Given the description of an element on the screen output the (x, y) to click on. 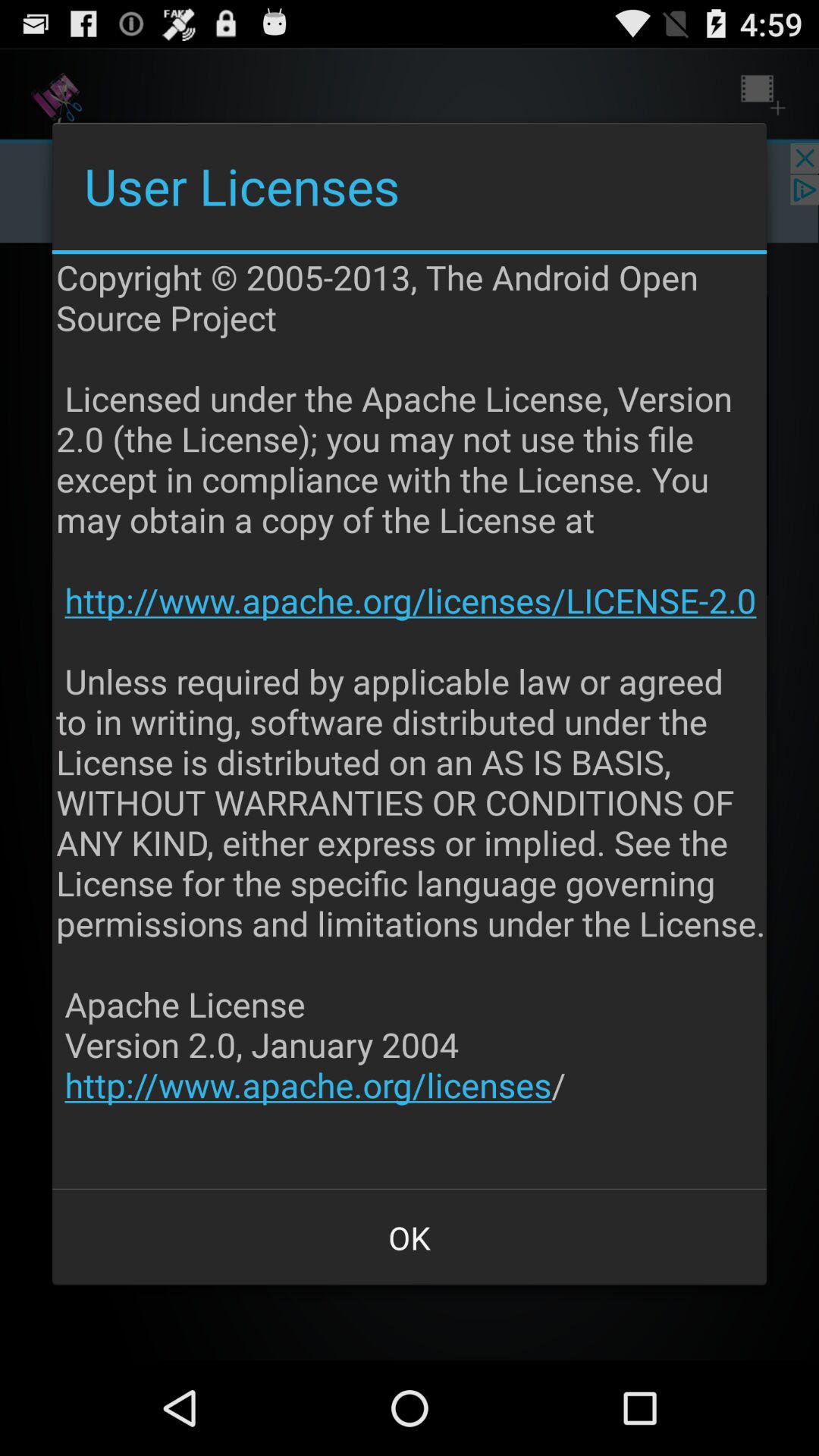
tap button at the bottom (409, 1237)
